Given the description of an element on the screen output the (x, y) to click on. 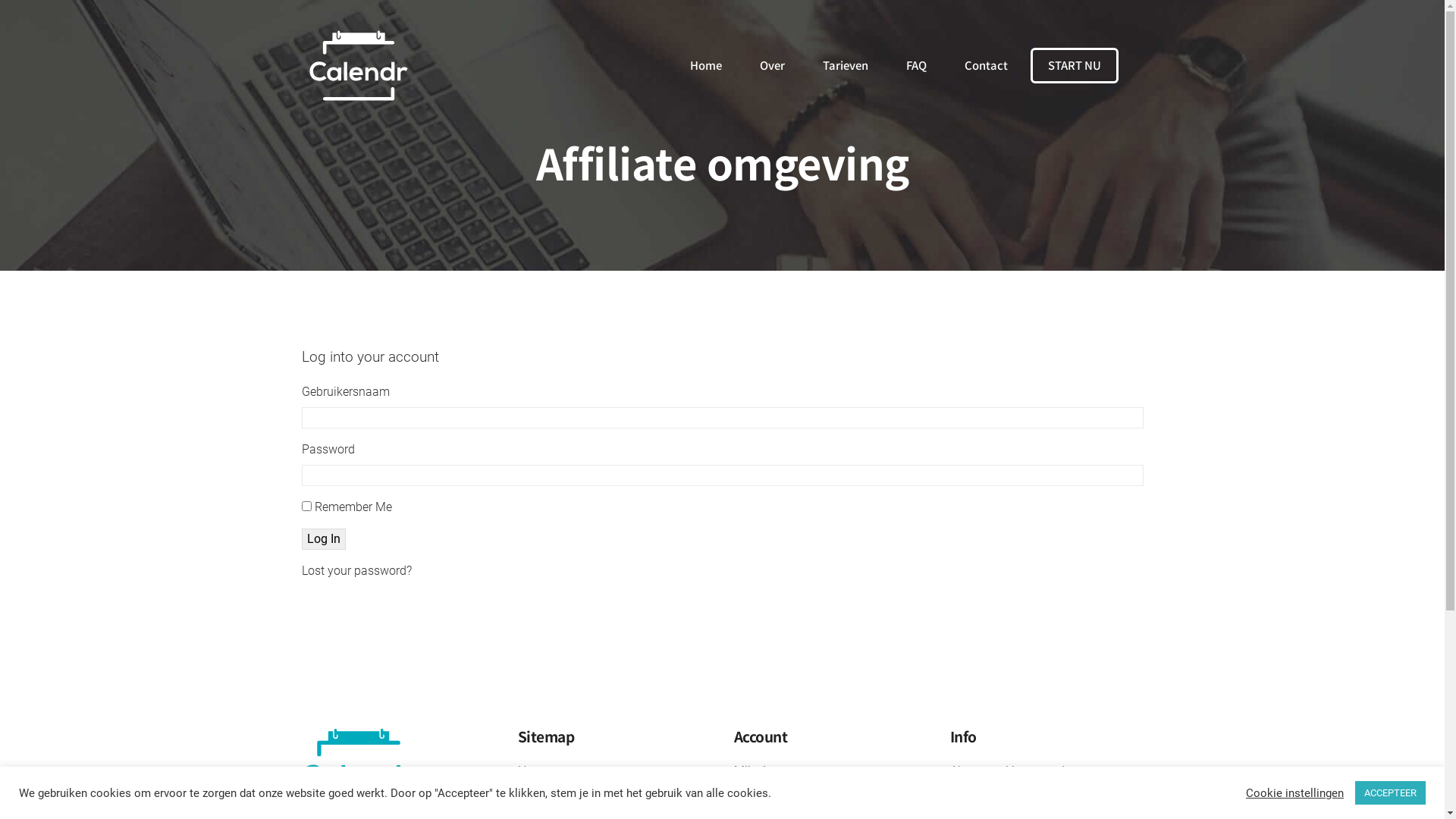
Cookie instellingen Element type: text (1294, 792)
Algemene Voorwaarden Element type: text (1012, 770)
Gebruikersnaam Element type: hover (722, 417)
Lost your password? Element type: text (356, 570)
Affiliate login Element type: text (768, 797)
Over Element type: text (772, 65)
Home Element type: text (533, 770)
Over Element type: text (529, 797)
Home Element type: text (705, 65)
Log In Element type: text (323, 538)
Mijn Account Element type: text (769, 770)
FAQ Element type: text (915, 65)
Privacy Policy Element type: text (986, 797)
START NU Element type: text (1073, 64)
ACCEPTEER Element type: text (1390, 792)
Contact Element type: text (985, 65)
Tarieven Element type: text (844, 65)
